Given the description of an element on the screen output the (x, y) to click on. 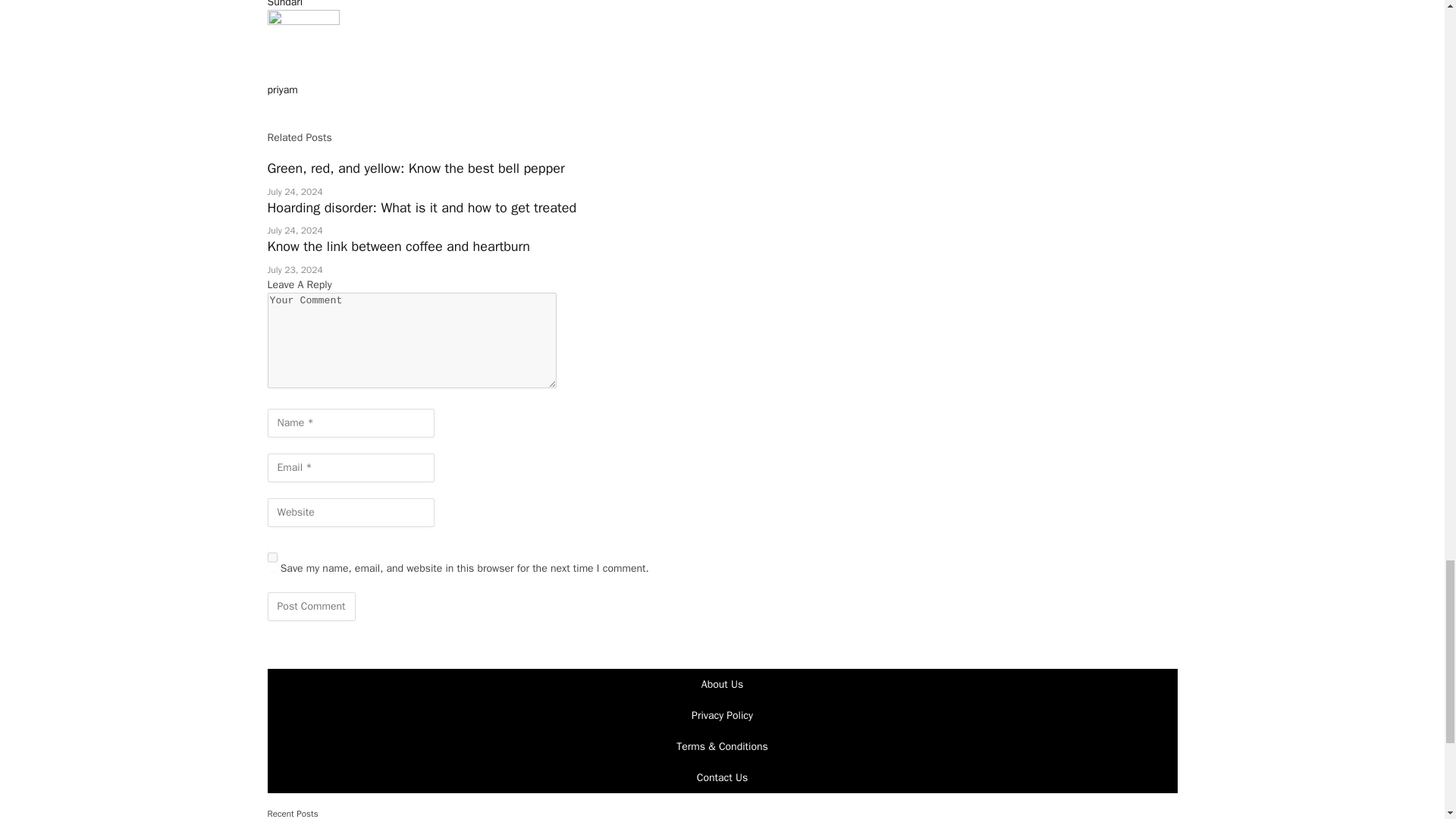
Post Comment (310, 606)
About Us (721, 684)
Sundari (284, 4)
Know the link between coffee and heartburn (397, 246)
Post Comment (310, 606)
priyam (281, 89)
Green, red, and yellow: Know the best bell pepper (415, 167)
Hoarding disorder: What is it and how to get treated (421, 207)
Privacy Policy (721, 715)
Posts by priyam (281, 89)
Contact Us (722, 777)
